Given the description of an element on the screen output the (x, y) to click on. 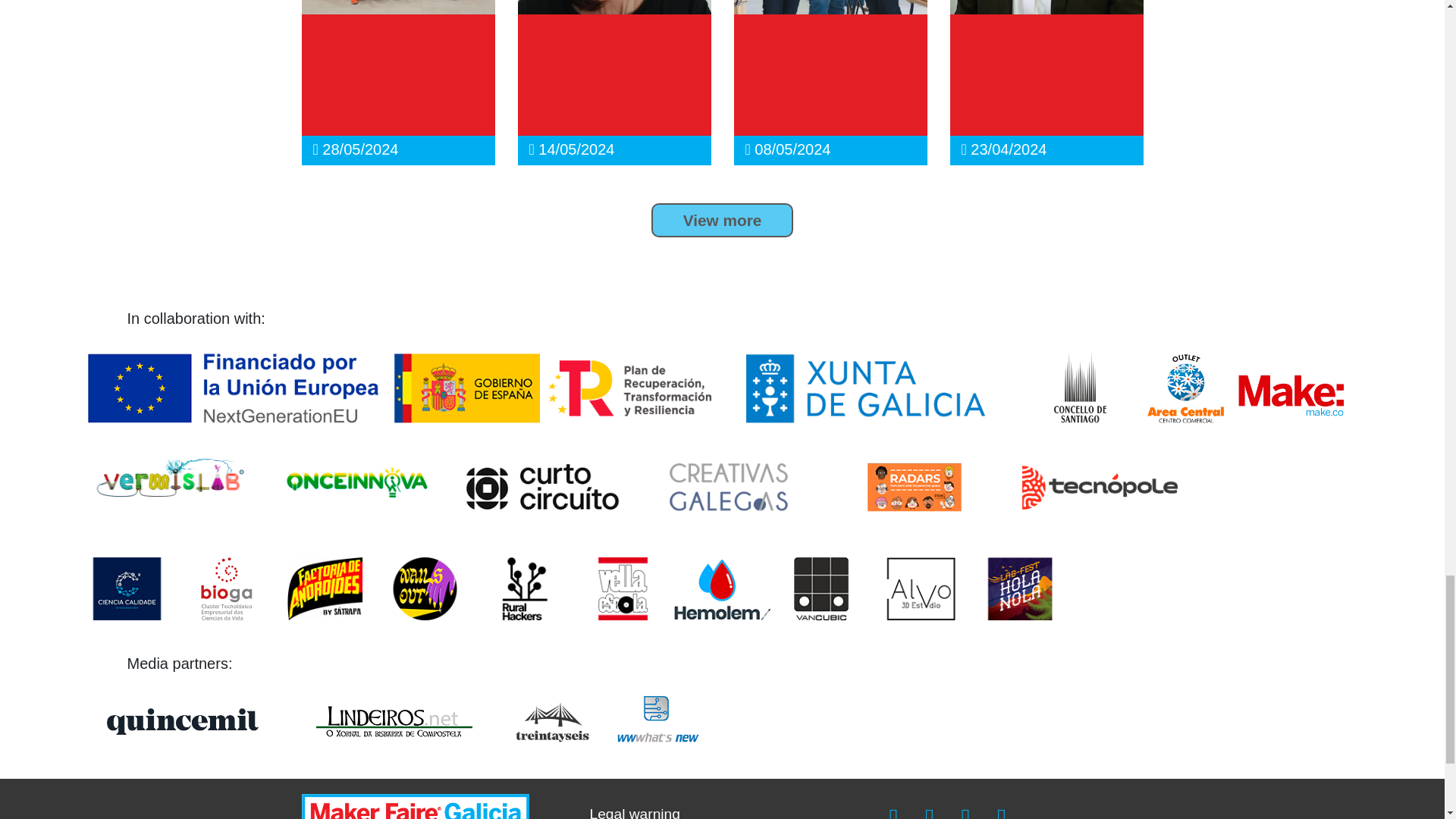
View more (721, 220)
NextGeneration EU (235, 386)
Blog (721, 220)
View more (721, 220)
